Given the description of an element on the screen output the (x, y) to click on. 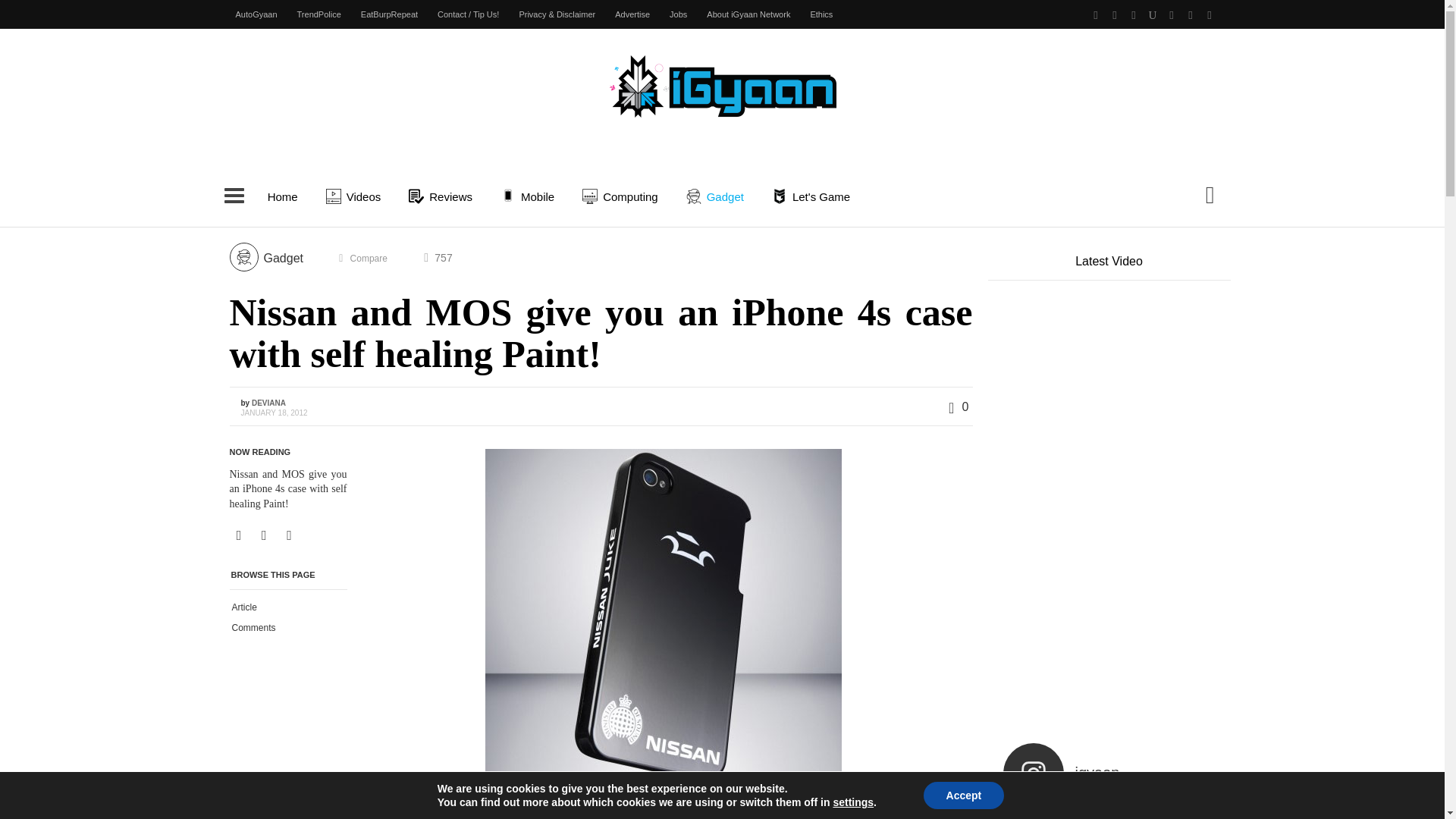
EatBurpRepeat (389, 14)
About iGyaan Network (748, 14)
Home (282, 196)
Ethics (821, 14)
Videos (355, 196)
Jobs (678, 14)
TrendPolice (318, 14)
AutoGyaan (255, 14)
Advertise (632, 14)
